Given the description of an element on the screen output the (x, y) to click on. 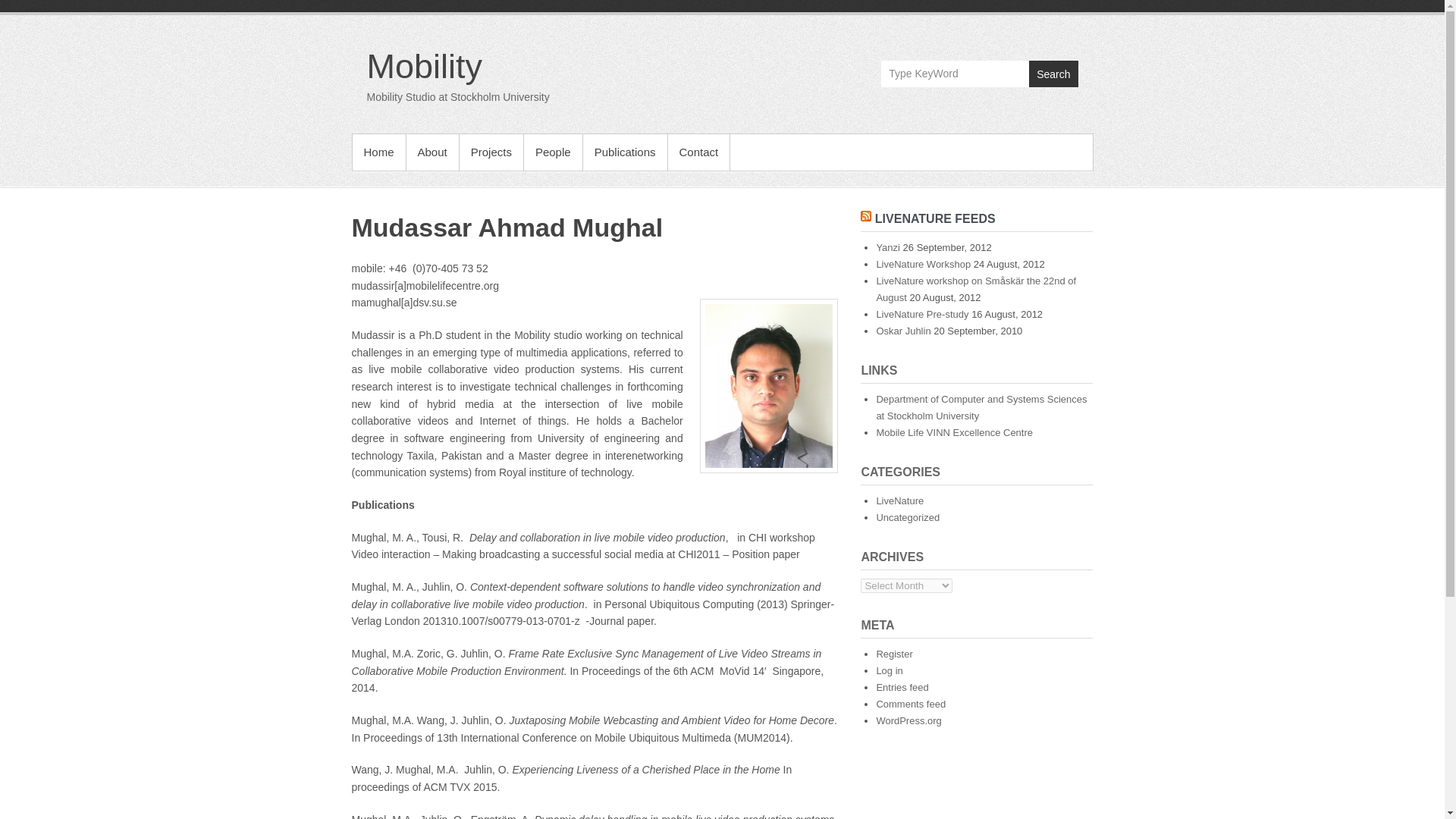
Mobility (424, 65)
LiveNature Workshop (923, 264)
Type KeyWord (955, 73)
About (432, 152)
Search (1053, 73)
People (553, 152)
LIVENATURE FEEDS (935, 218)
Contact (699, 152)
Type KeyWord (955, 73)
